Given the description of an element on the screen output the (x, y) to click on. 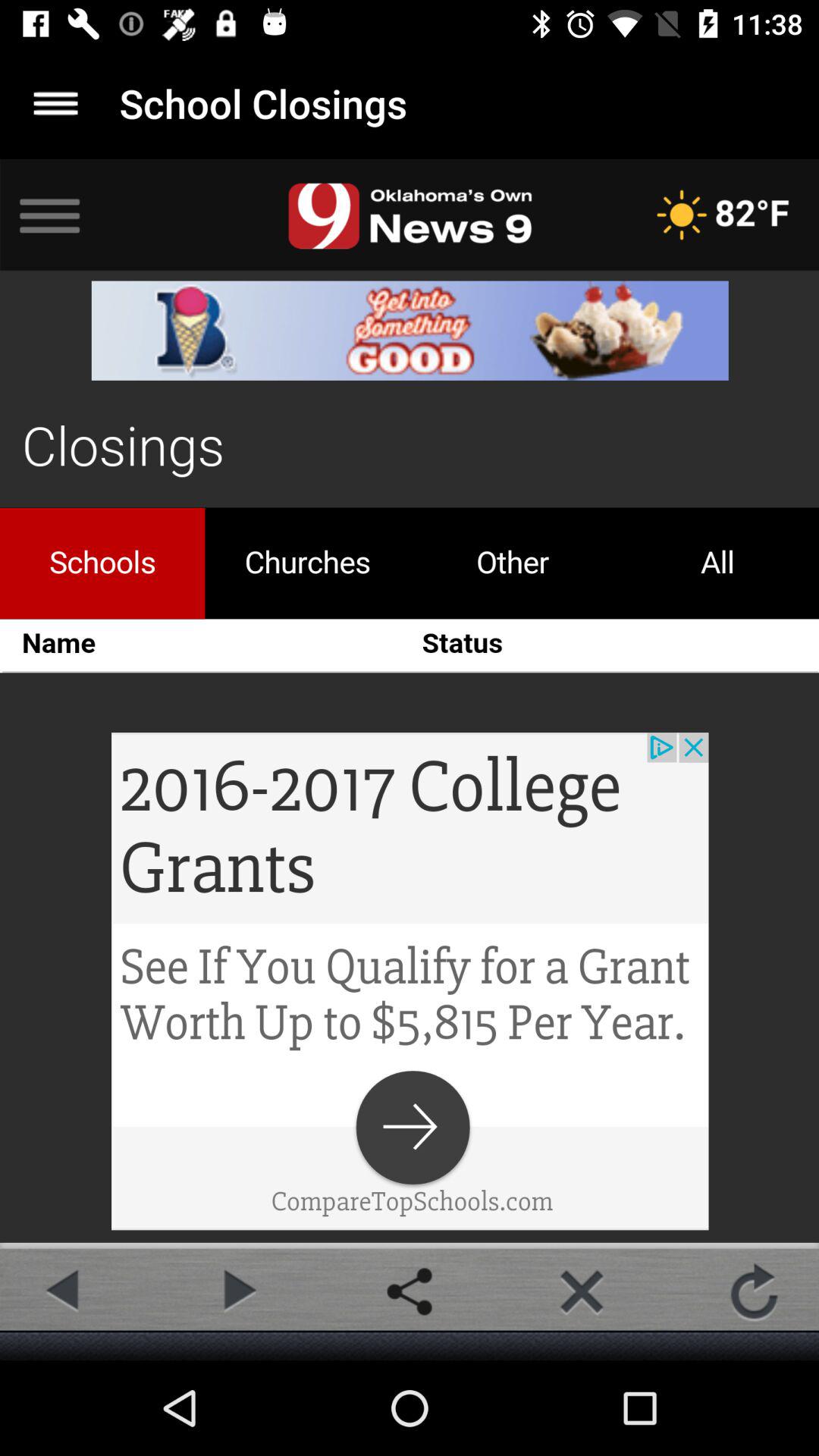
go back (64, 1291)
